Given the description of an element on the screen output the (x, y) to click on. 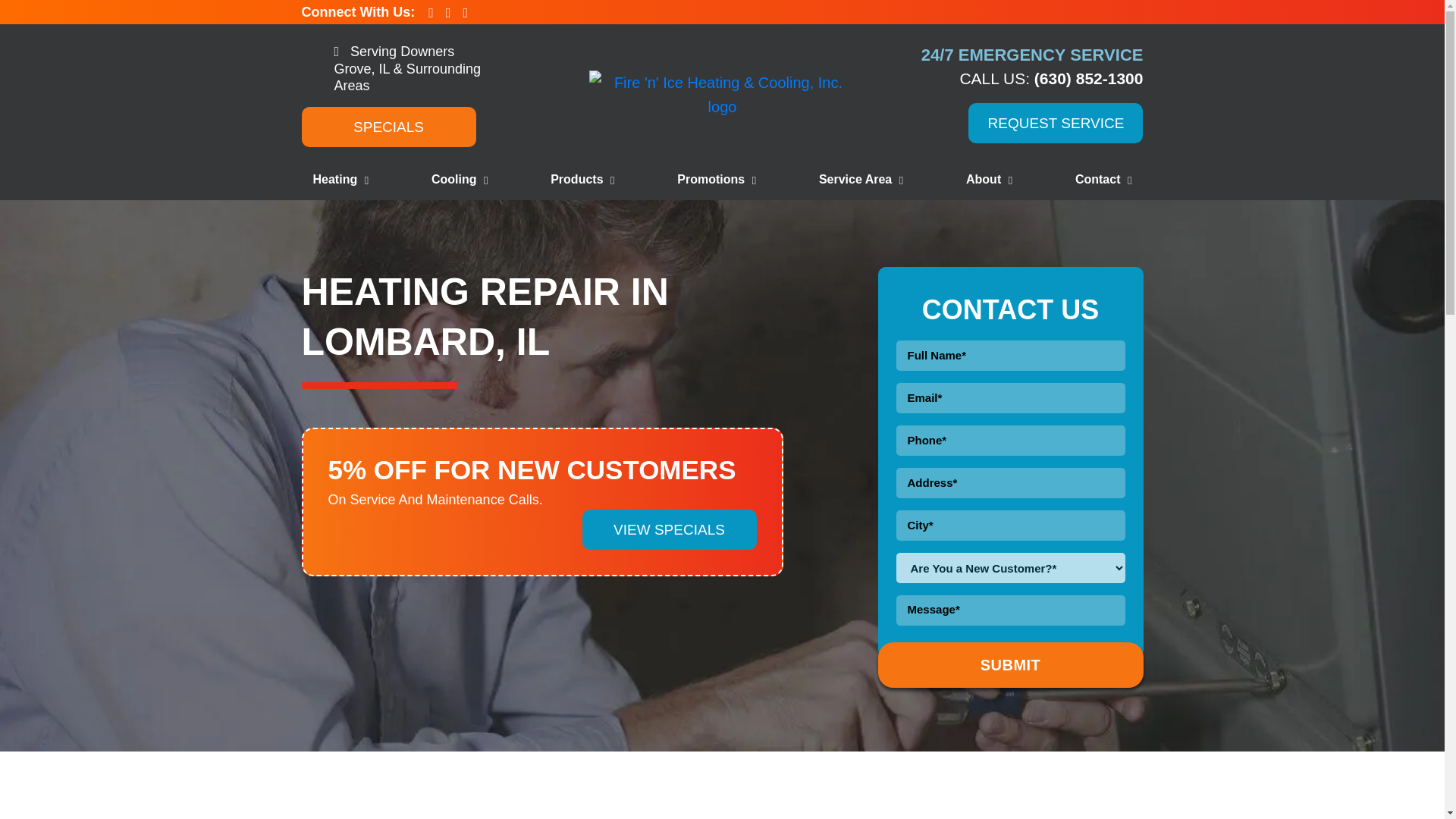
Service Area (861, 178)
Cooling (459, 178)
Heating (340, 178)
Products (582, 178)
About (989, 178)
Submit (1009, 664)
SPECIALS (388, 126)
REQUEST SERVICE (1055, 123)
Promotions (716, 178)
Contact (1103, 178)
